Given the description of an element on the screen output the (x, y) to click on. 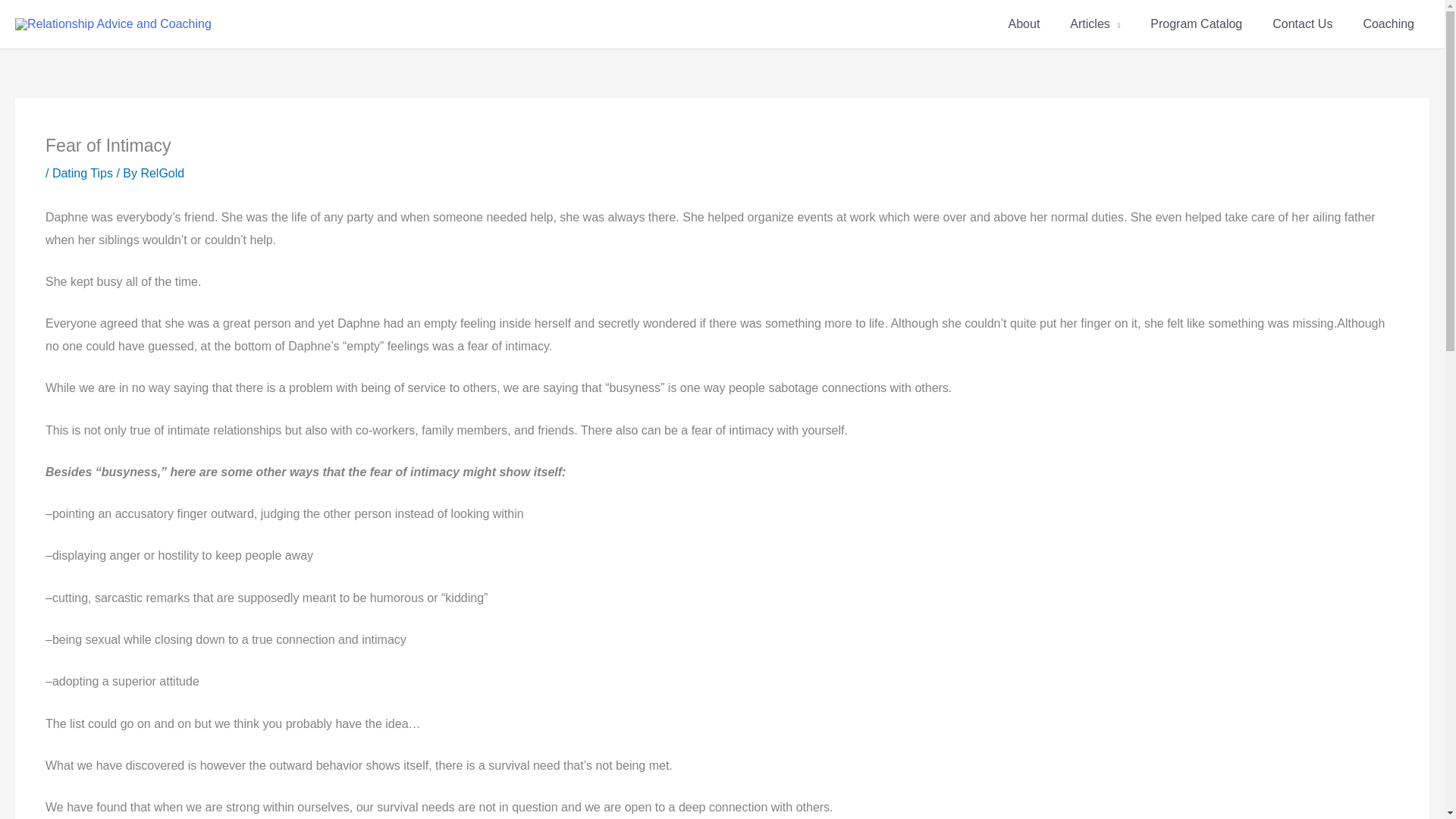
Dating Tips (82, 173)
About (1023, 24)
Program Catalog (1196, 24)
View all posts by RelGold (161, 173)
RelGold (161, 173)
Coaching (1388, 24)
Contact Us (1302, 24)
Articles (1094, 24)
